Given the description of an element on the screen output the (x, y) to click on. 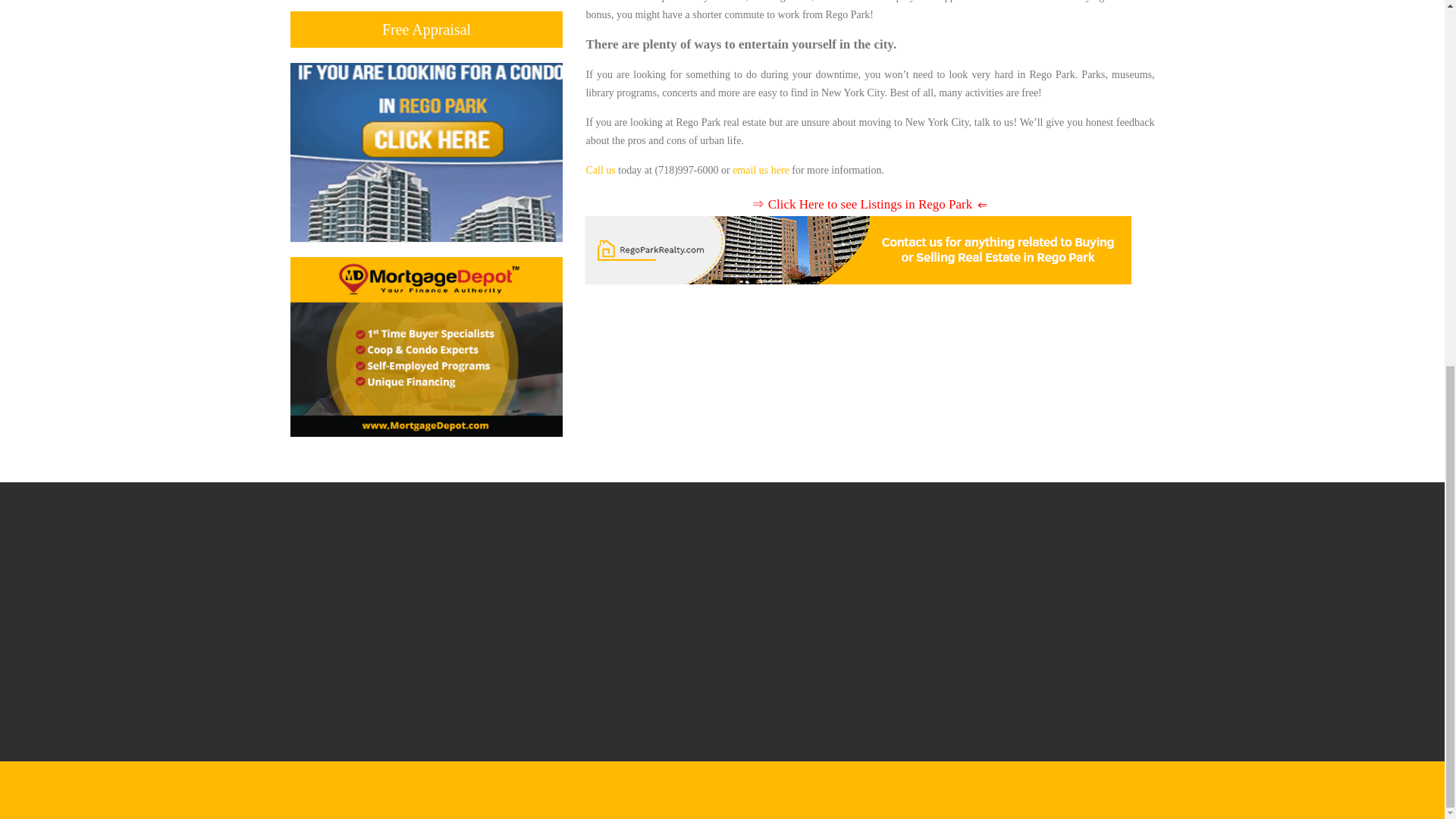
Free Appraisal (425, 29)
email us here (760, 170)
Call us (599, 170)
